Given the description of an element on the screen output the (x, y) to click on. 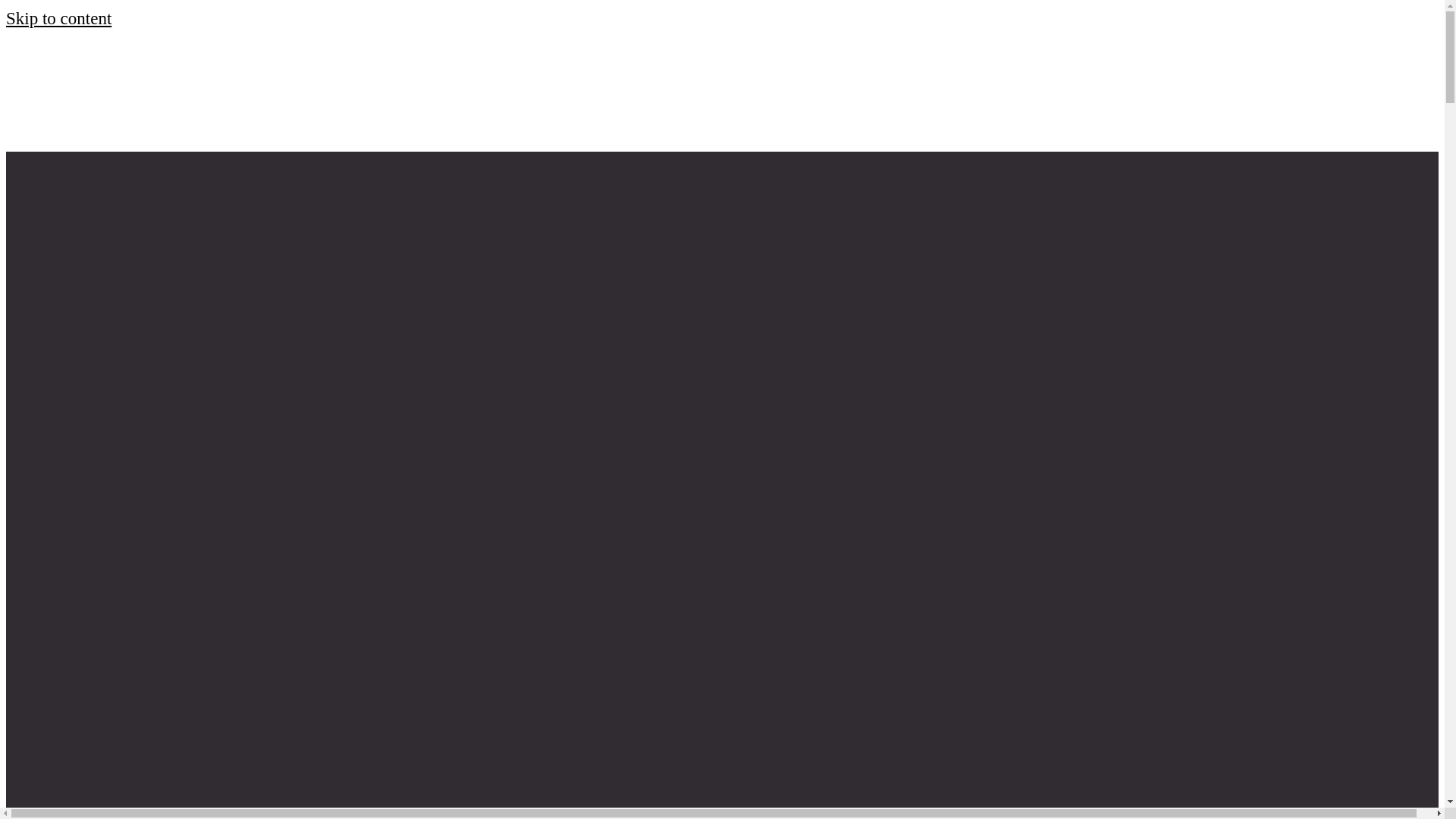
Skip to content (58, 18)
